Given the description of an element on the screen output the (x, y) to click on. 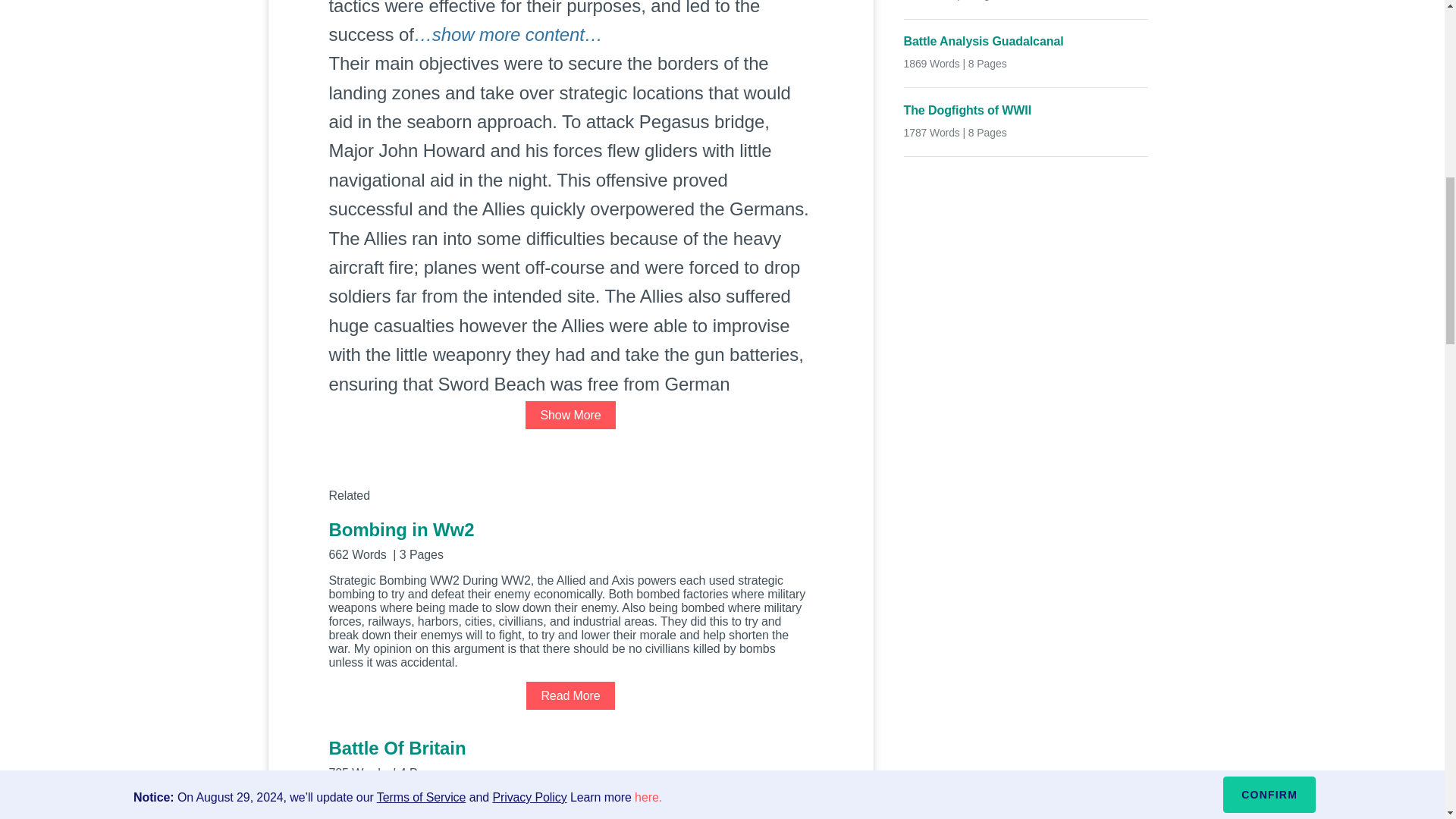
Show More (569, 415)
Read More (569, 695)
The Dogfights of WWII (1026, 110)
Battle Analysis Guadalcanal (1026, 41)
Bombing in Ww2 (570, 539)
Battle Of Britain (570, 757)
